Given the description of an element on the screen output the (x, y) to click on. 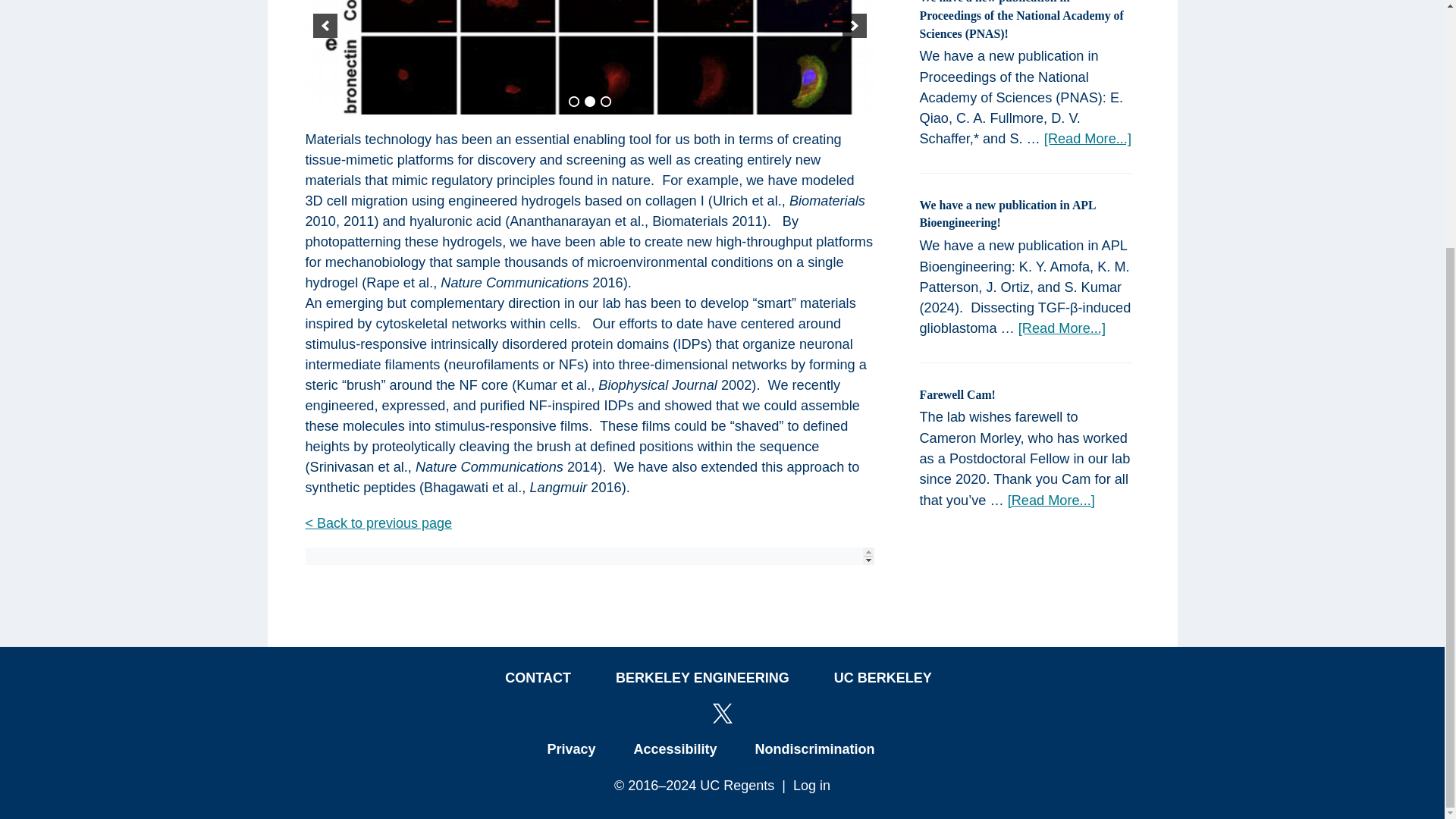
Accessibility (674, 749)
CONTACT (537, 677)
Privacy (571, 749)
Nondiscrimination (815, 749)
Log in (811, 785)
UC BERKELEY (882, 677)
BERKELEY ENGINEERING (702, 677)
Farewell Cam! (956, 394)
We have a new publication in APL Bioengineering! (1006, 214)
